Given the description of an element on the screen output the (x, y) to click on. 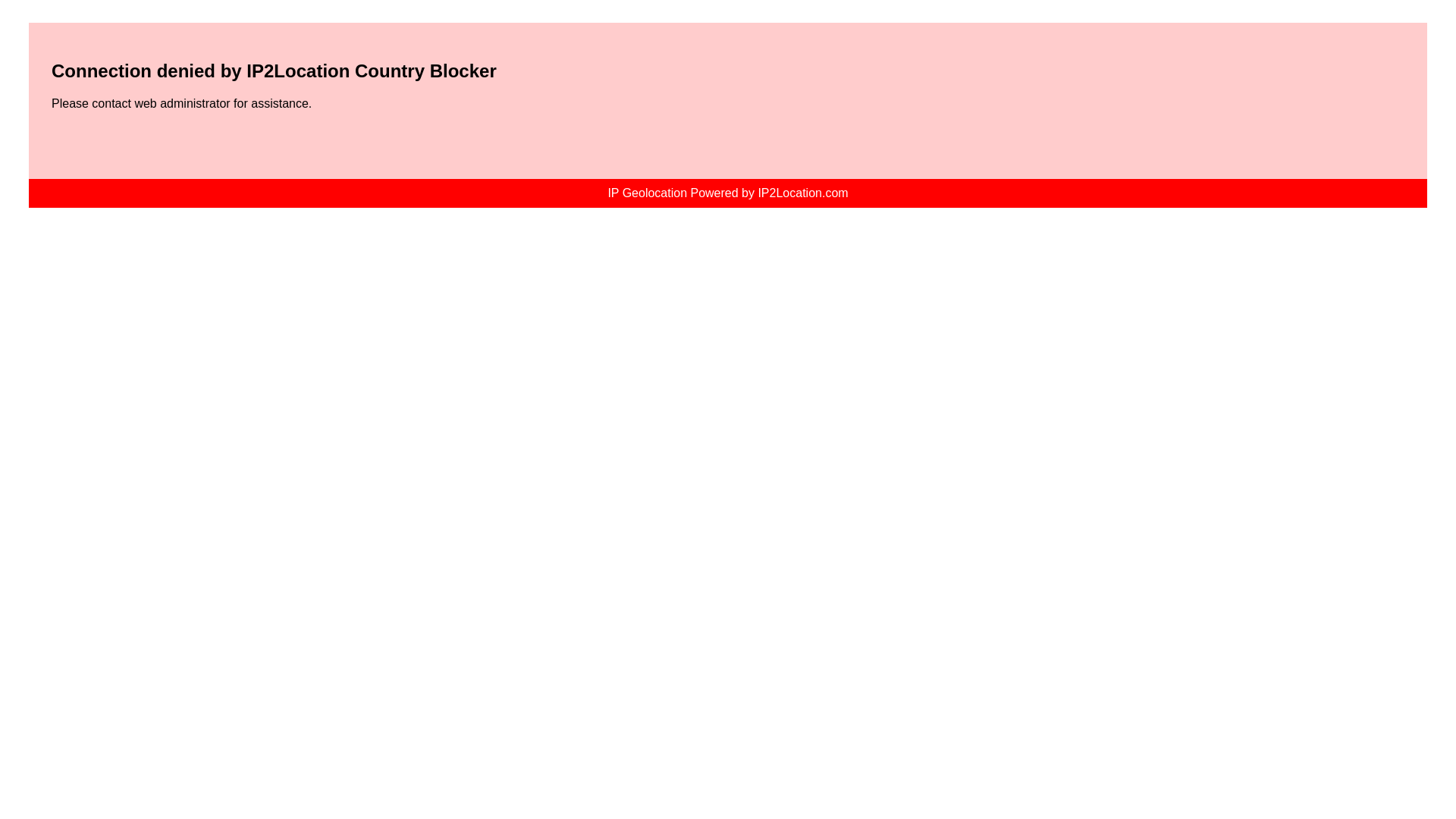
IP Geolocation Powered by IP2Location.com (727, 192)
